Given the description of an element on the screen output the (x, y) to click on. 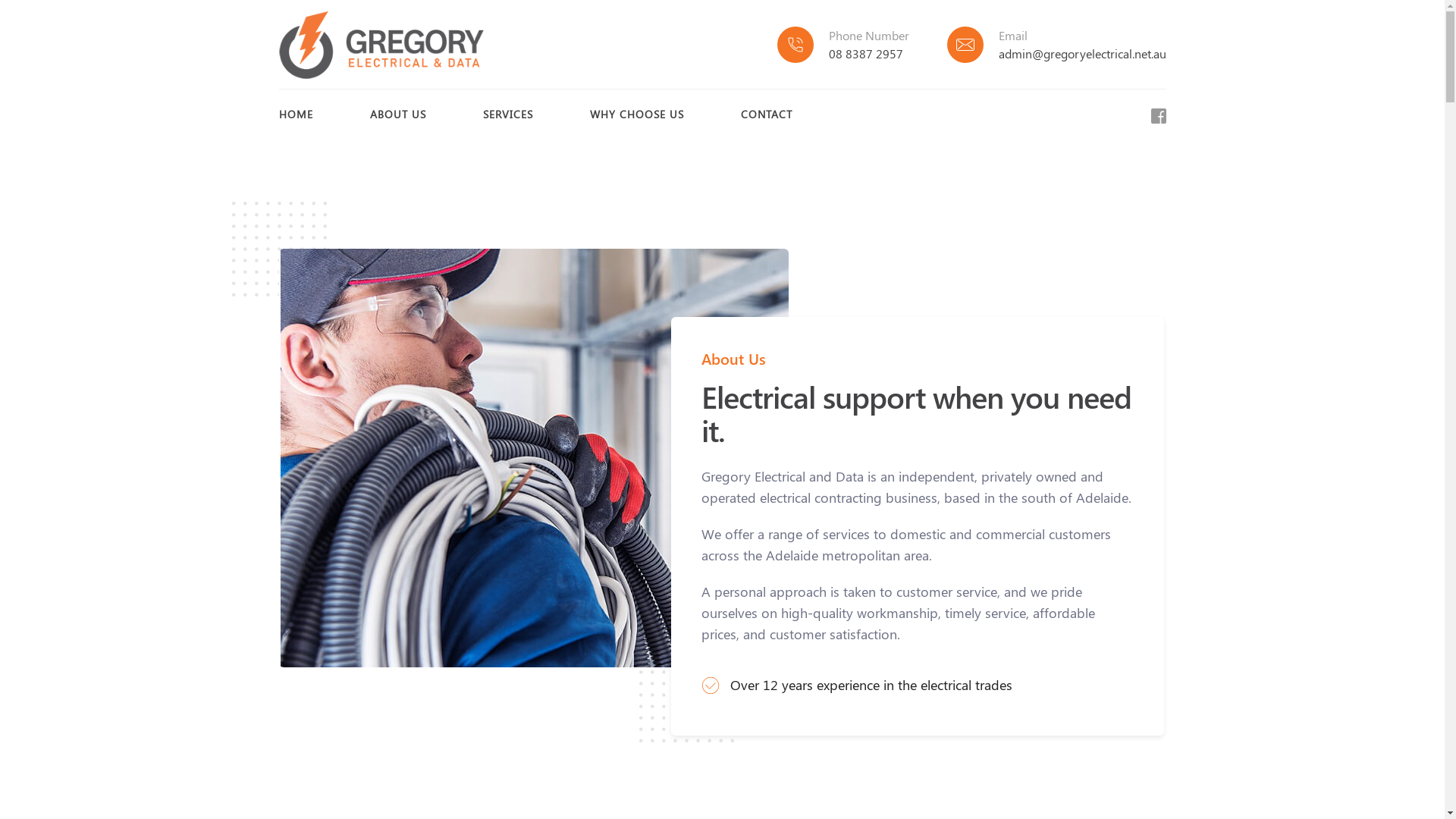
CONTACT Element type: text (765, 114)
08 8387 2957 Element type: text (865, 53)
HOME Element type: text (296, 114)
SERVICES Element type: text (507, 114)
ABOUT US Element type: text (398, 114)
WHY CHOOSE US Element type: text (636, 114)
admin@gregoryelectrical.net.au Element type: text (1081, 53)
